Given the description of an element on the screen output the (x, y) to click on. 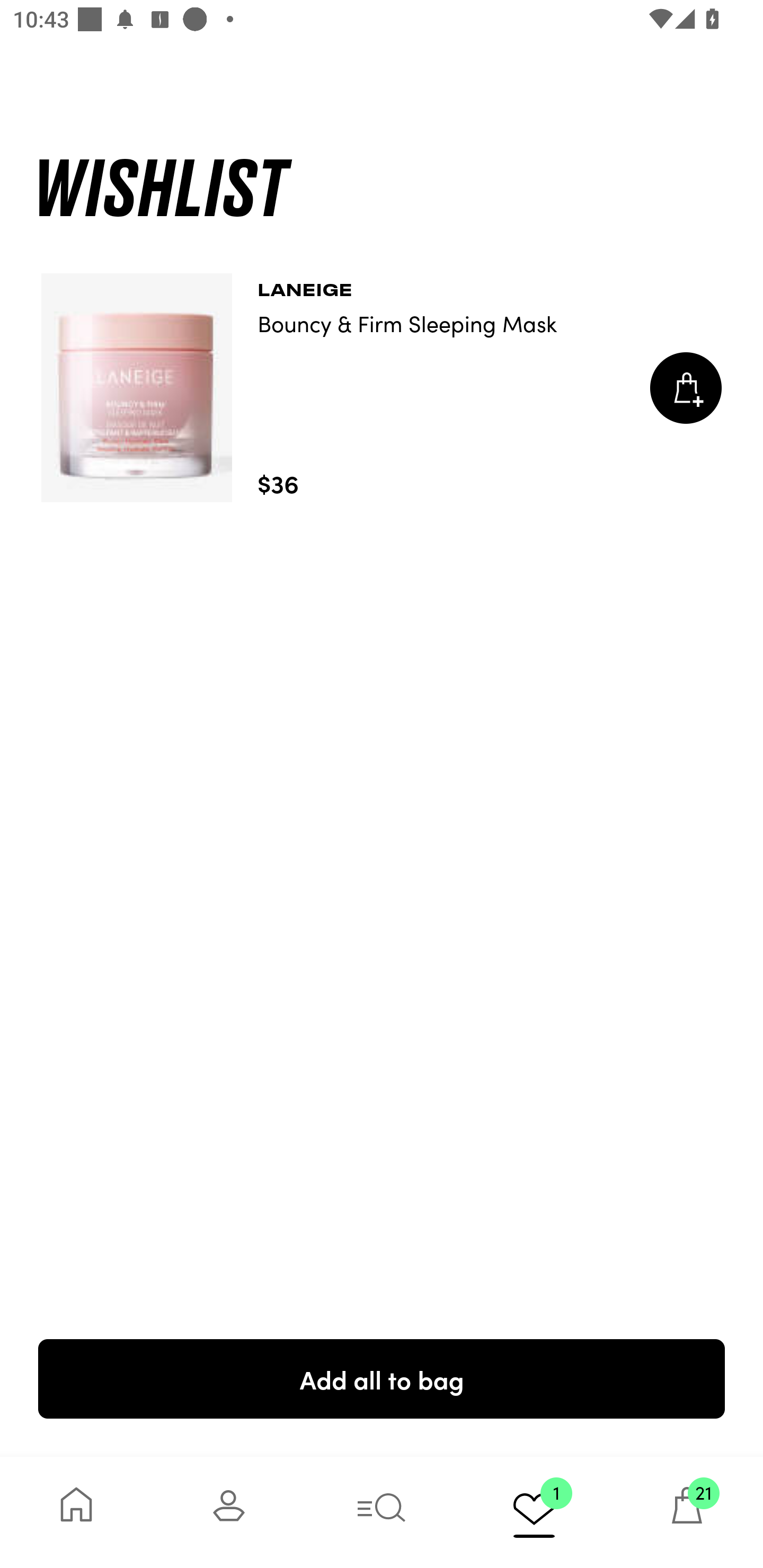
LANEIGE Bouncy & Firm Sleeping Mask $36 (381, 388)
Add all to bag (381, 1379)
1 (533, 1512)
21 (686, 1512)
